Given the description of an element on the screen output the (x, y) to click on. 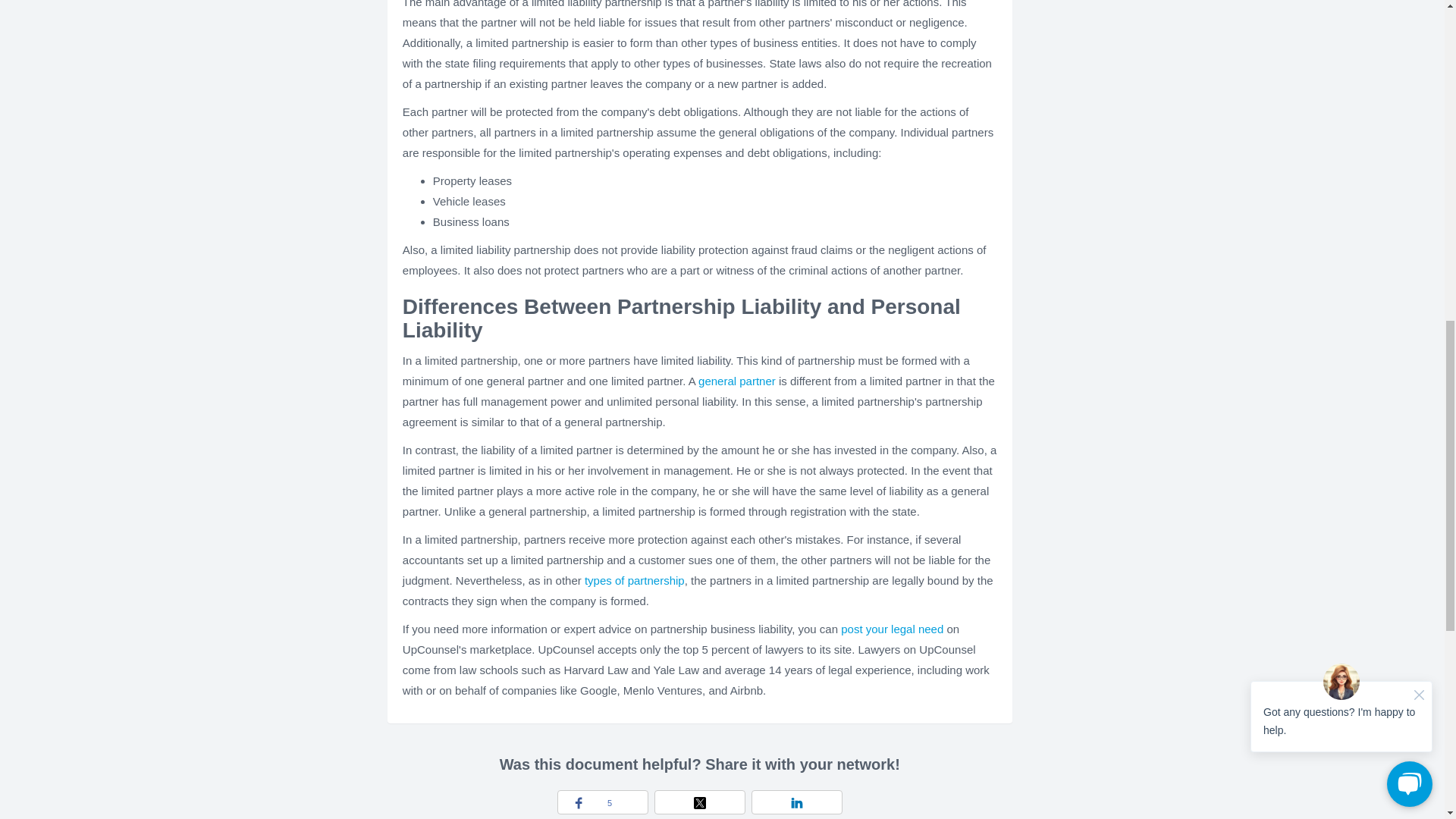
post your legal need (892, 628)
types of partnership (634, 580)
general partner (737, 380)
